Given the description of an element on the screen output the (x, y) to click on. 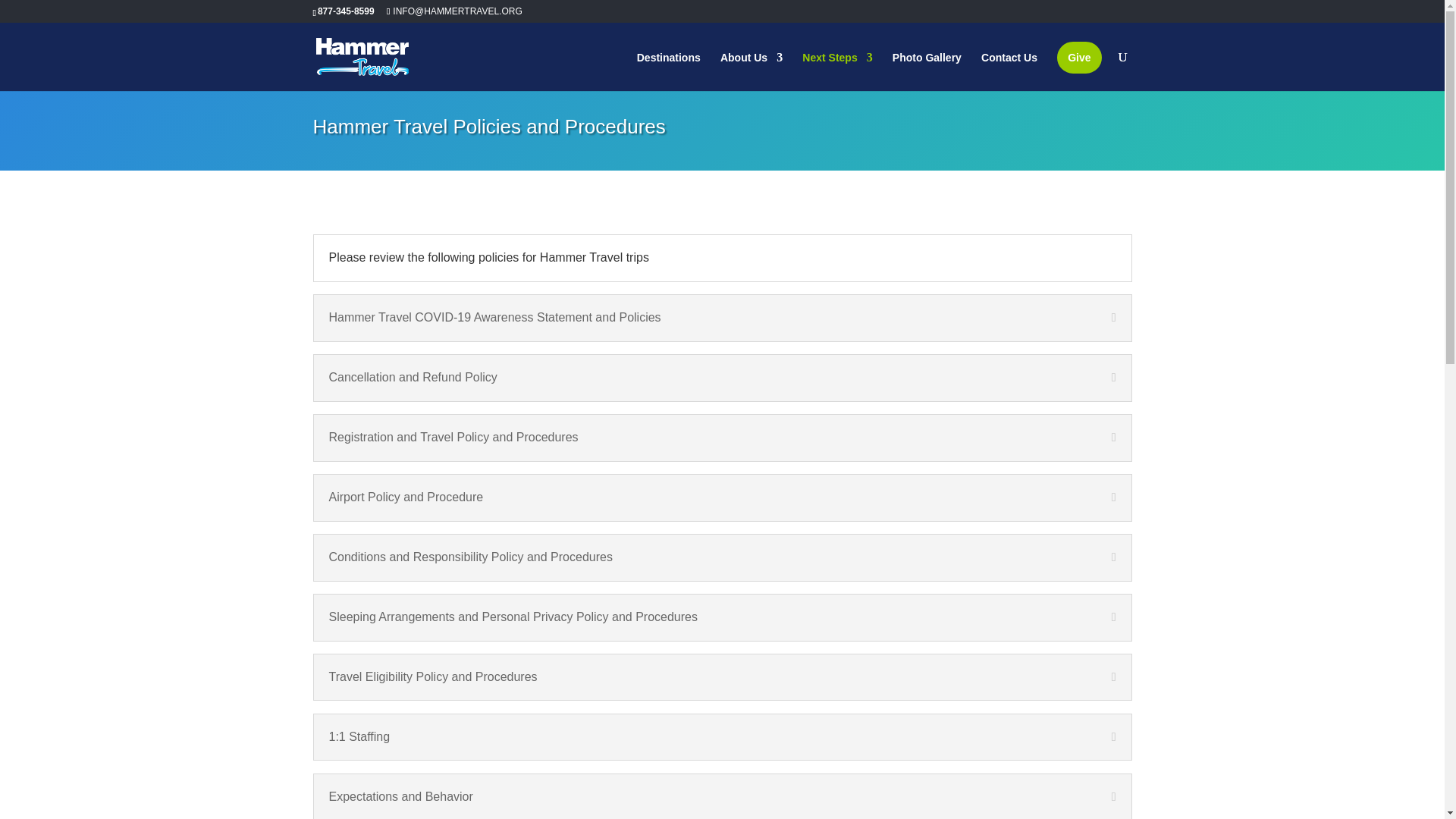
Photo Gallery (926, 71)
Destinations (668, 71)
Give (1078, 57)
Contact Us (1008, 71)
About Us (751, 71)
Next Steps (837, 71)
